Given the description of an element on the screen output the (x, y) to click on. 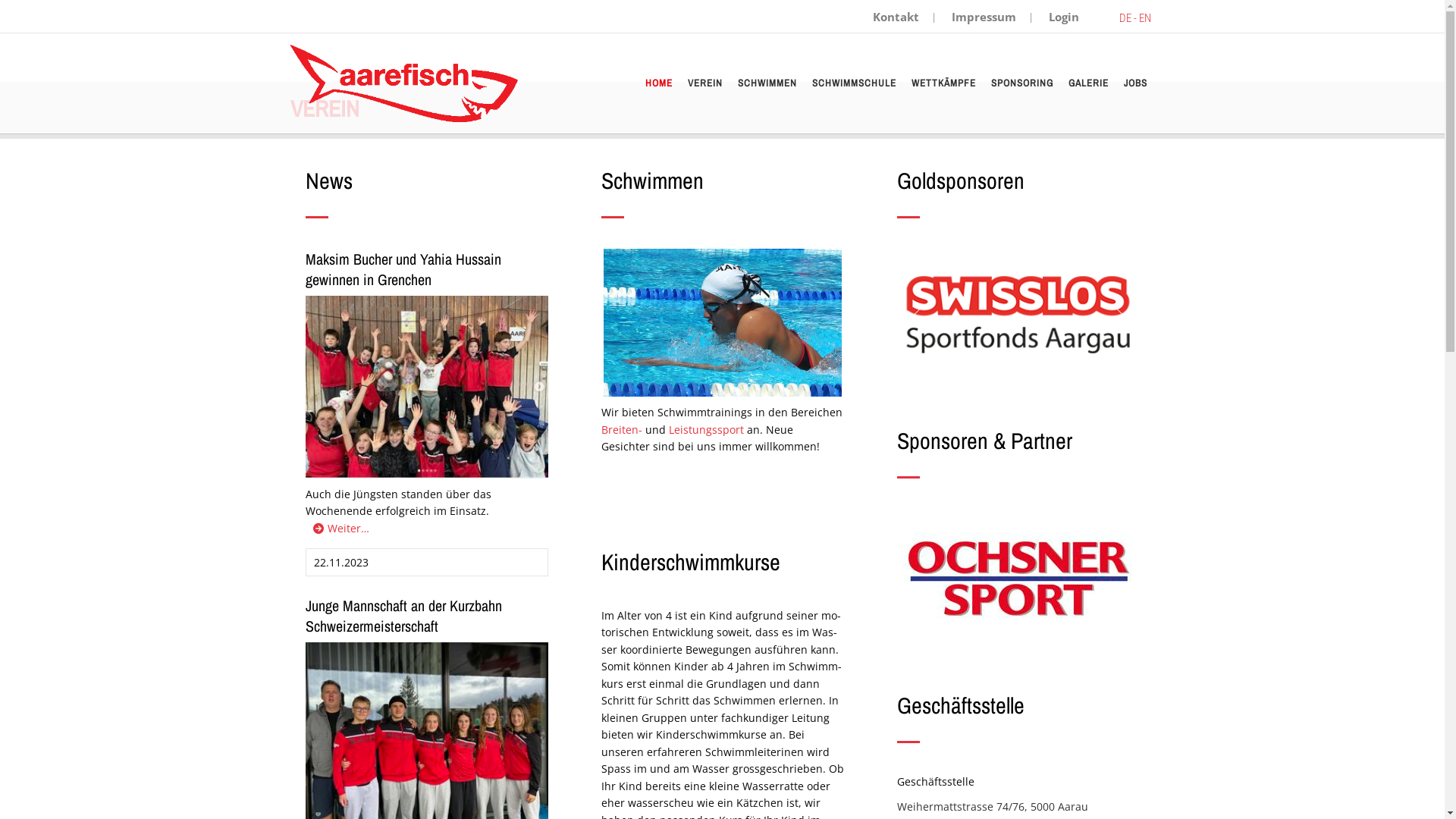
DE - EN Element type: text (1134, 18)
Kontakt Element type: text (895, 17)
GALERIE Element type: text (1087, 82)
VEREIN Element type: text (704, 82)
HOME Element type: text (658, 82)
SCHWIMMEN Element type: text (766, 82)
Login Element type: text (1062, 17)
Breiten- Element type: text (622, 428)
JOBS Element type: text (1135, 82)
Impressum Element type: text (982, 17)
SCHWIMMSCHULE Element type: text (853, 82)
Leistungssport Element type: text (705, 428)
SPONSORING Element type: text (1021, 82)
